Given the description of an element on the screen output the (x, y) to click on. 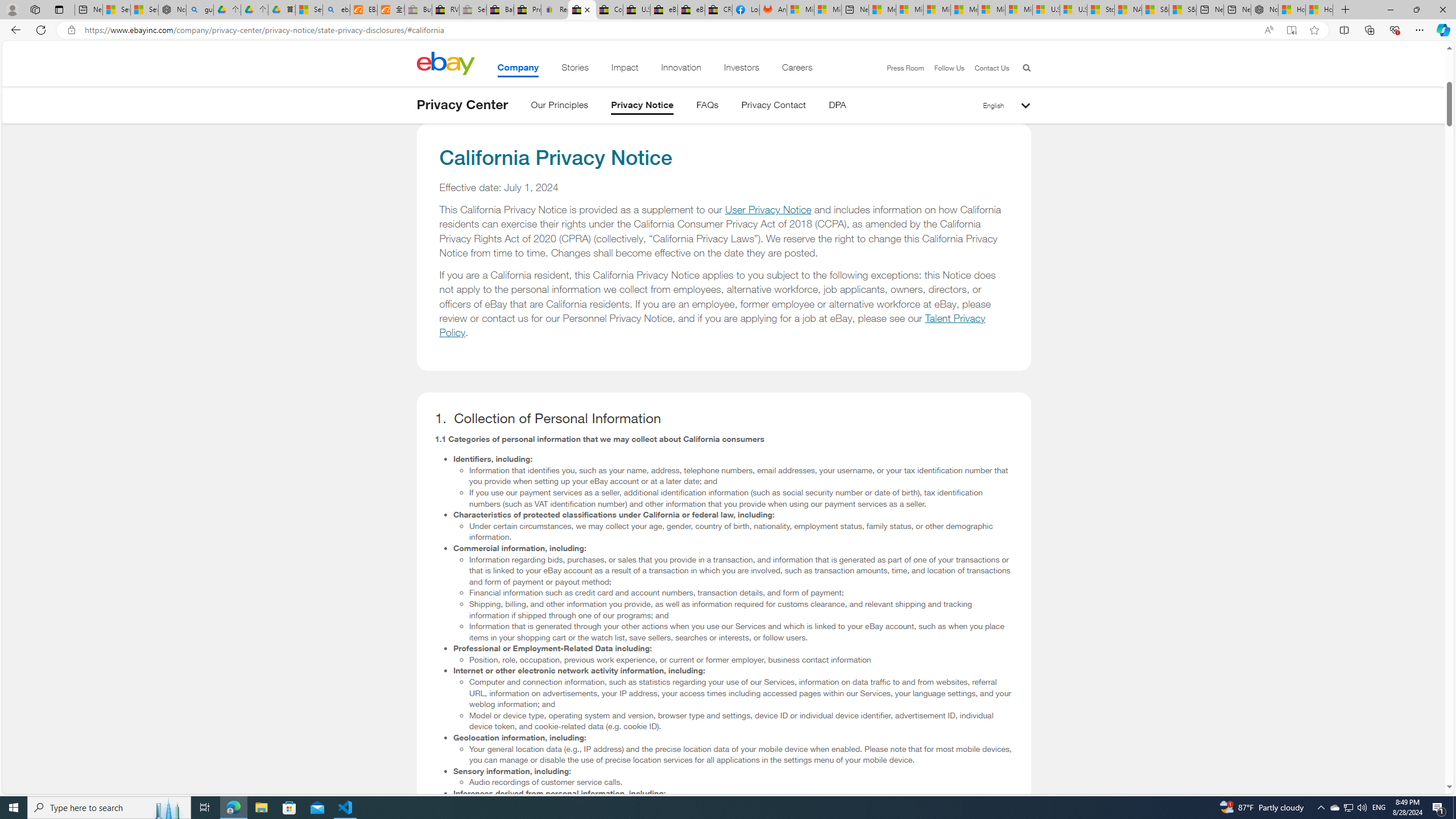
RV, Trailer & Camper Steps & Ladders for sale | eBay (445, 9)
Talent Privacy Policy (712, 325)
Register: Create a personal eBay account (554, 9)
DPA (836, 107)
User Privacy Notice (767, 209)
eBay Inc. Reports Third Quarter 2023 Results (691, 9)
